Given the description of an element on the screen output the (x, y) to click on. 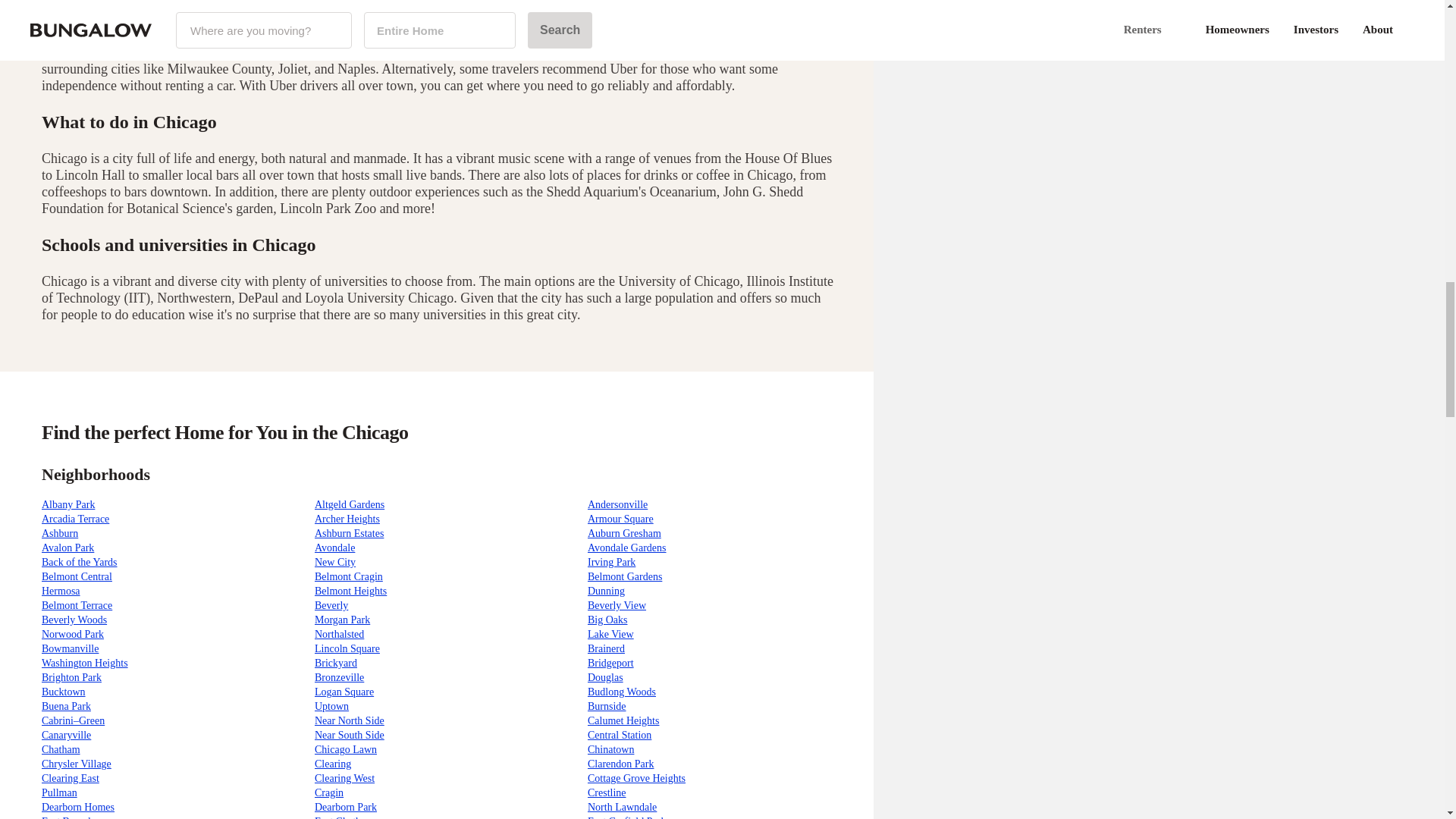
Armour Square (620, 518)
Andersonville (617, 504)
Altgeld Gardens (349, 504)
Auburn Gresham (624, 532)
Ashburn (60, 532)
Avondale (334, 547)
Ashburn Estates (349, 532)
Avondale Gardens (627, 547)
Albany Park (68, 504)
Archer Heights (347, 518)
